Given the description of an element on the screen output the (x, y) to click on. 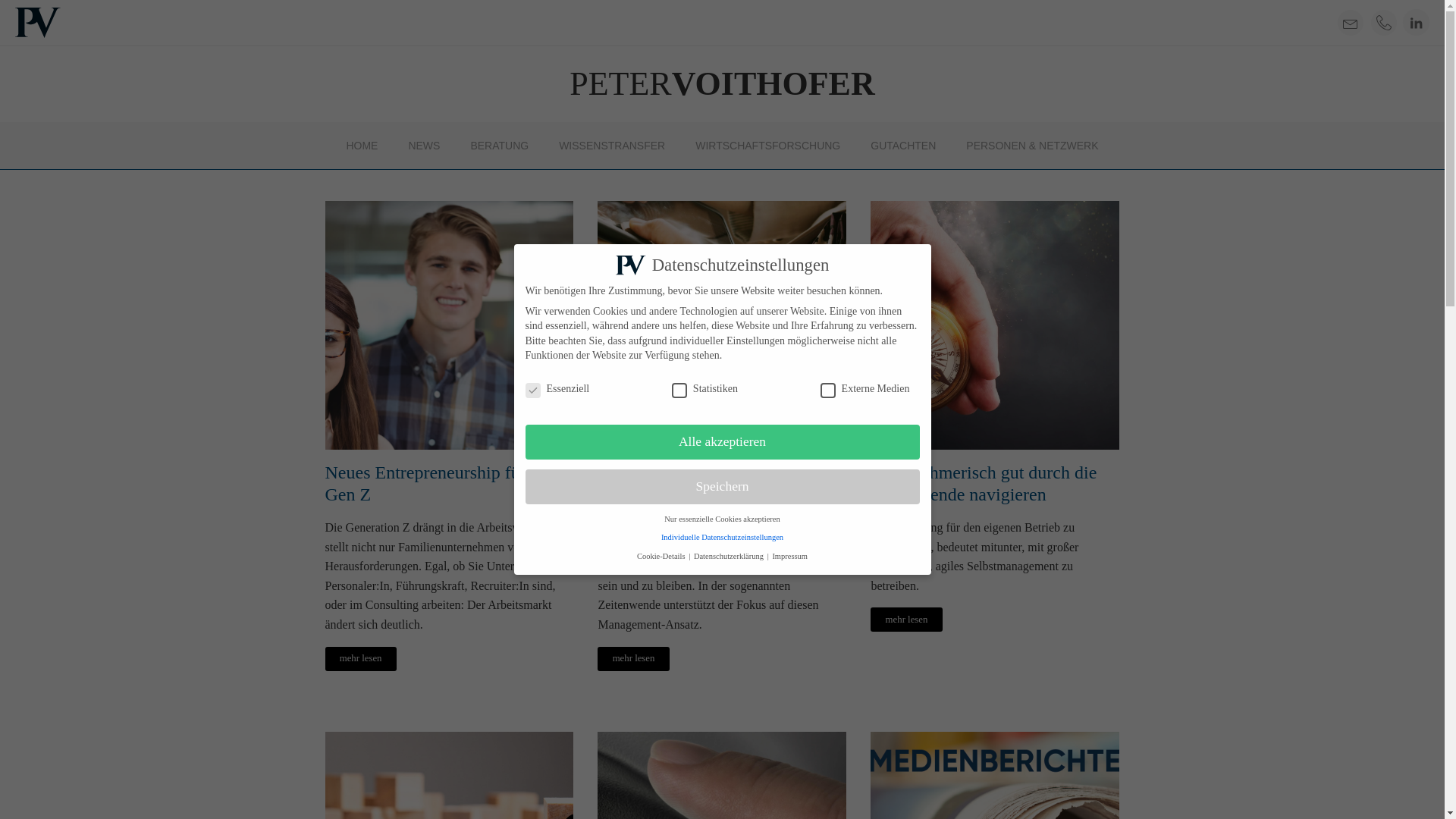
GUTACHTEN Element type: text (902, 145)
Unternehmerisch gut durch die Zeitenwende navigieren Element type: text (994, 483)
mehr lesen Element type: text (632, 658)
mehr lesen Element type: text (359, 658)
Alle akzeptieren Element type: text (721, 441)
Individuelle Datenschutzeinstellungen Element type: text (722, 537)
PERSONEN & NETZWERK Element type: text (1031, 145)
mehr lesen Element type: text (905, 619)
Nur essenzielle Cookies akzeptieren Element type: text (721, 518)
Impressum Element type: text (789, 556)
WIRTSCHAFTSFORSCHUNG Element type: text (767, 145)
HOME Element type: text (361, 145)
Speichern Element type: text (721, 486)
WISSENSTRANSFER Element type: text (611, 145)
NEWS Element type: text (423, 145)
BERATUNG Element type: text (499, 145)
Cookie-Details Element type: text (662, 556)
